Given the description of an element on the screen output the (x, y) to click on. 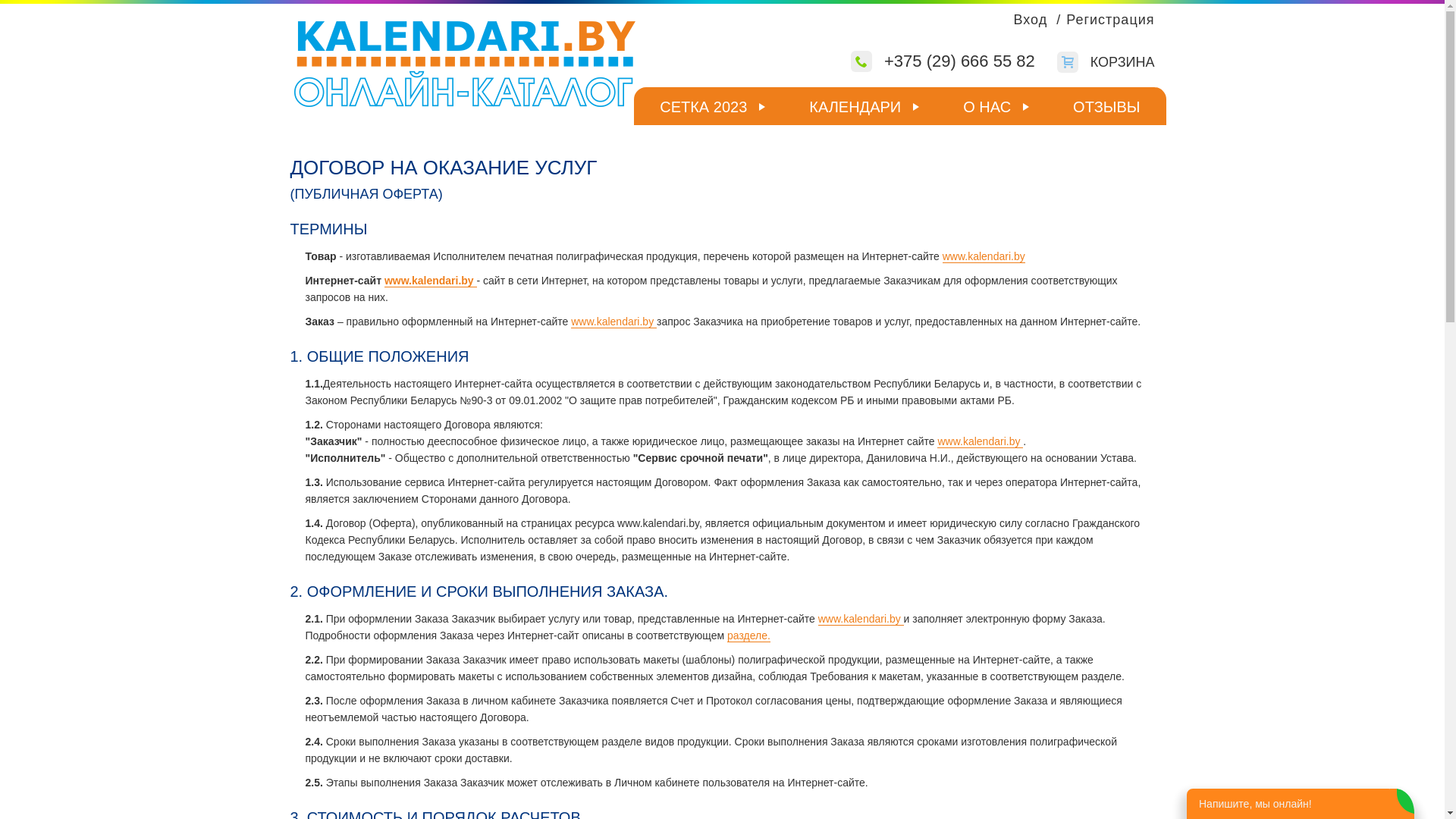
www.kalendari.by Element type: text (860, 618)
www.kalendari.by Element type: text (430, 280)
KALENDARI.BY  Element type: hover (468, 67)
+375 (29) 666 55 82 Element type: text (933, 61)
www.kalendari.by Element type: text (983, 256)
www.kalendari.by Element type: text (613, 321)
www.kalendari.by Element type: text (979, 441)
